Given the description of an element on the screen output the (x, y) to click on. 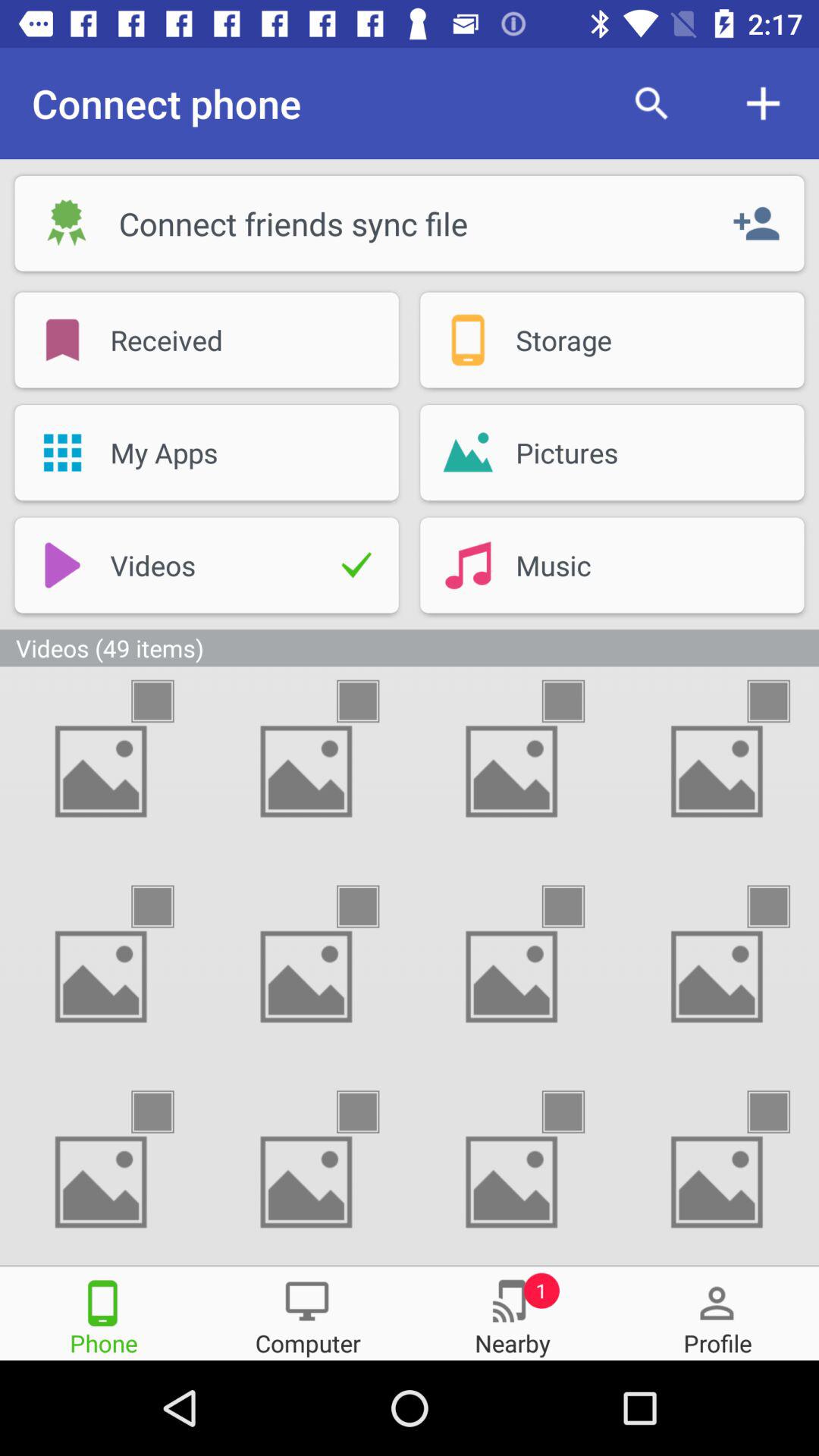
select the video (576, 906)
